Given the description of an element on the screen output the (x, y) to click on. 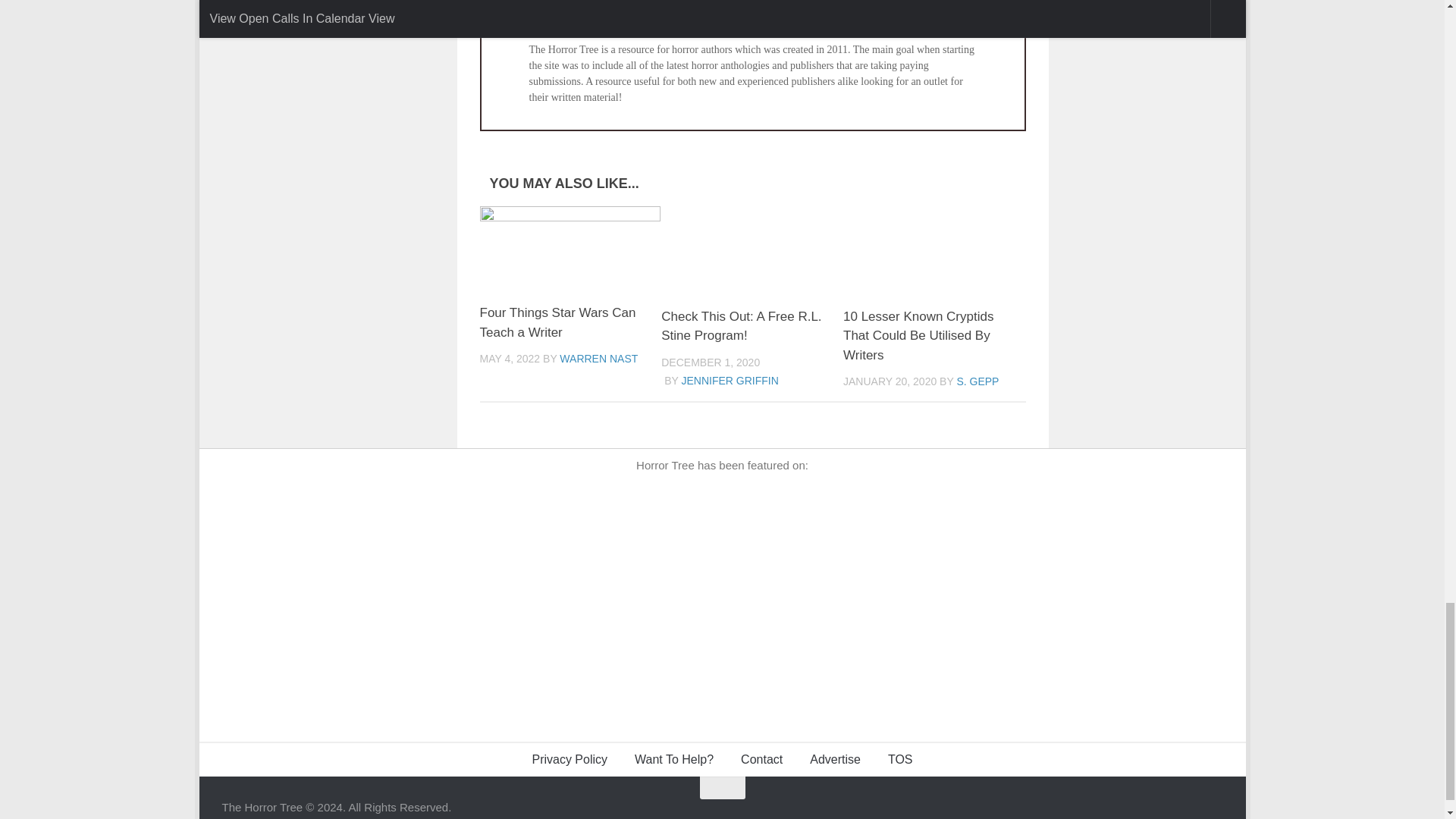
Posts by Warren Nast (598, 358)
Posts by S. Gepp (977, 381)
Posts by Jennifer Griffin (729, 380)
